Given the description of an element on the screen output the (x, y) to click on. 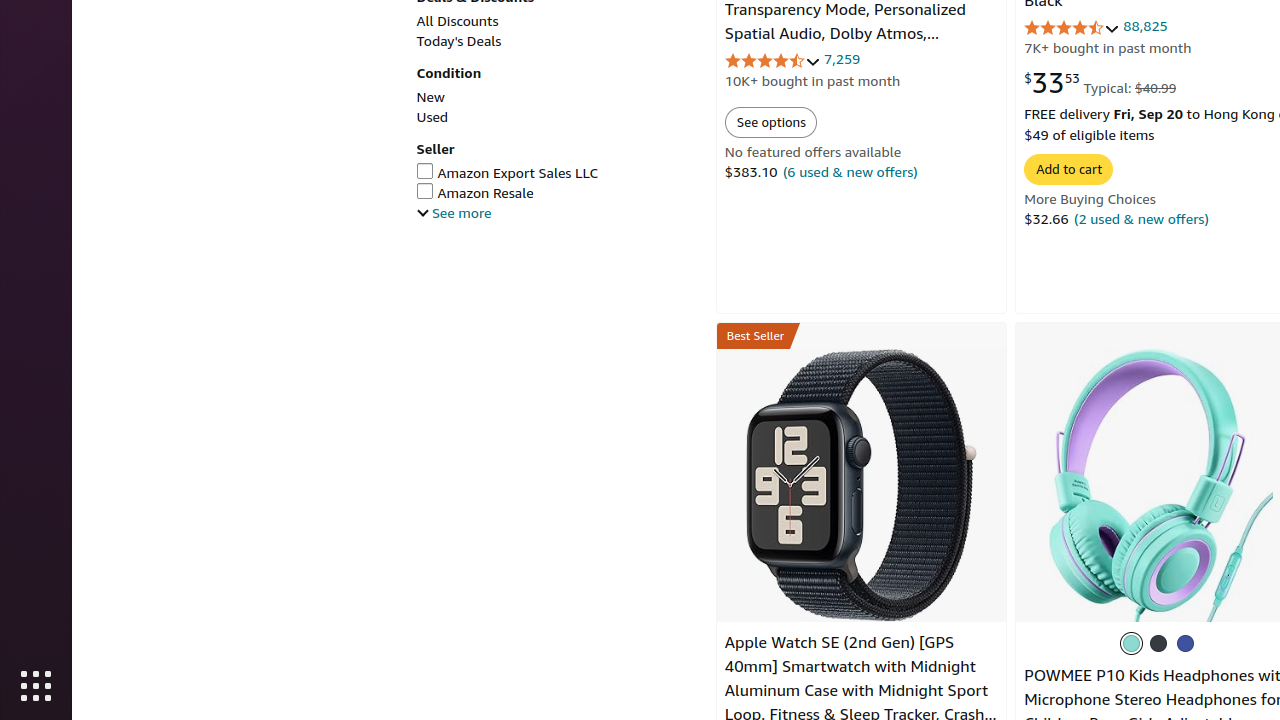
7,259 Element type: link (842, 59)
Blue Element type: push-button (1186, 643)
$33.53 Typical: $40.99 Element type: link (1100, 82)
Black Element type: push-button (1159, 643)
(6 used & new offers) Element type: link (850, 171)
